Given the description of an element on the screen output the (x, y) to click on. 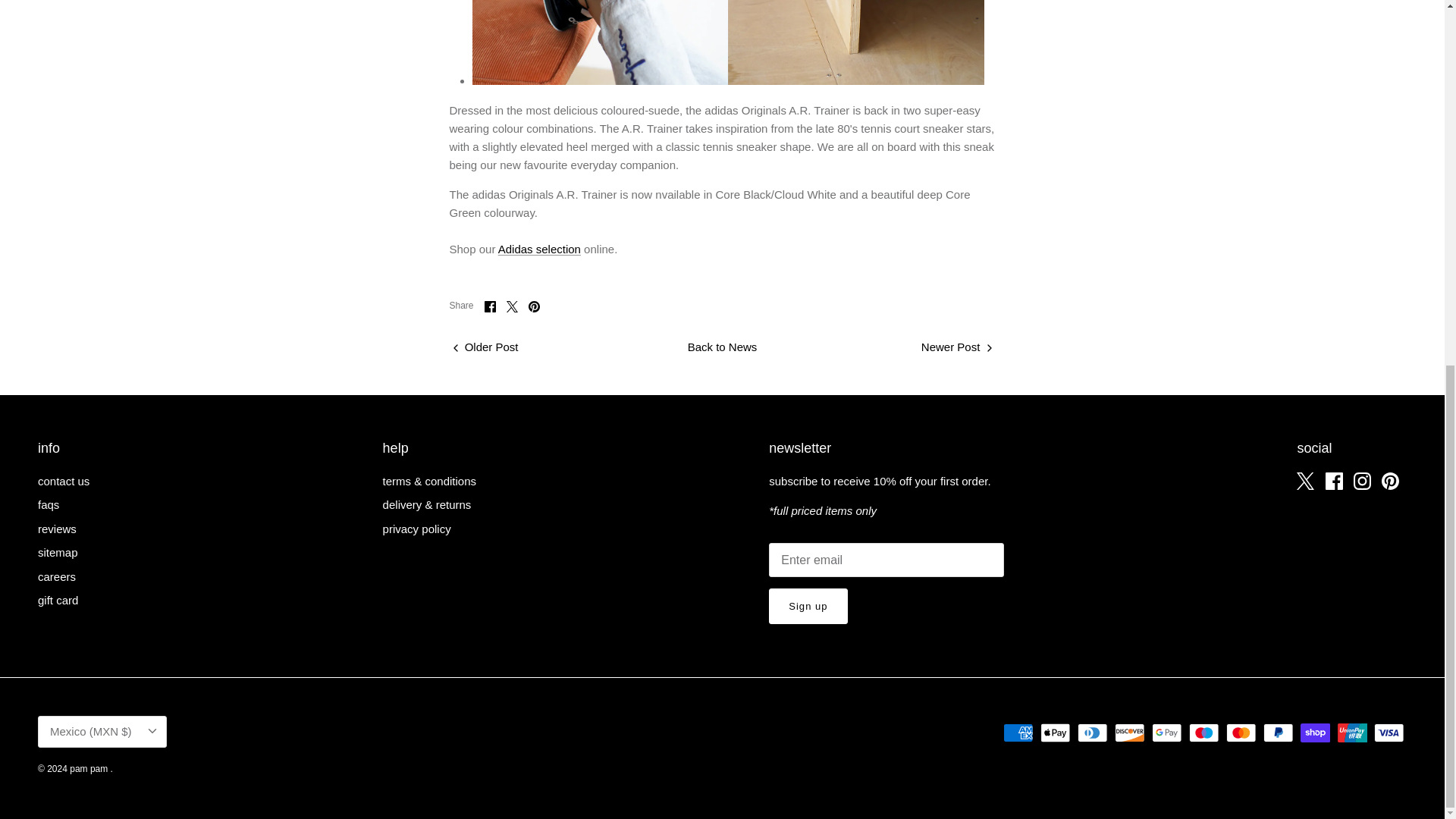
Diners Club (1092, 732)
Customer reviews powered by Trustpilot (1203, 771)
Facebook (490, 306)
Instagram (1362, 480)
Pinterest (534, 306)
Right (988, 347)
Apple Pay (1055, 732)
Left (454, 347)
Pinterest (1390, 480)
American Express (1018, 732)
